Given the description of an element on the screen output the (x, y) to click on. 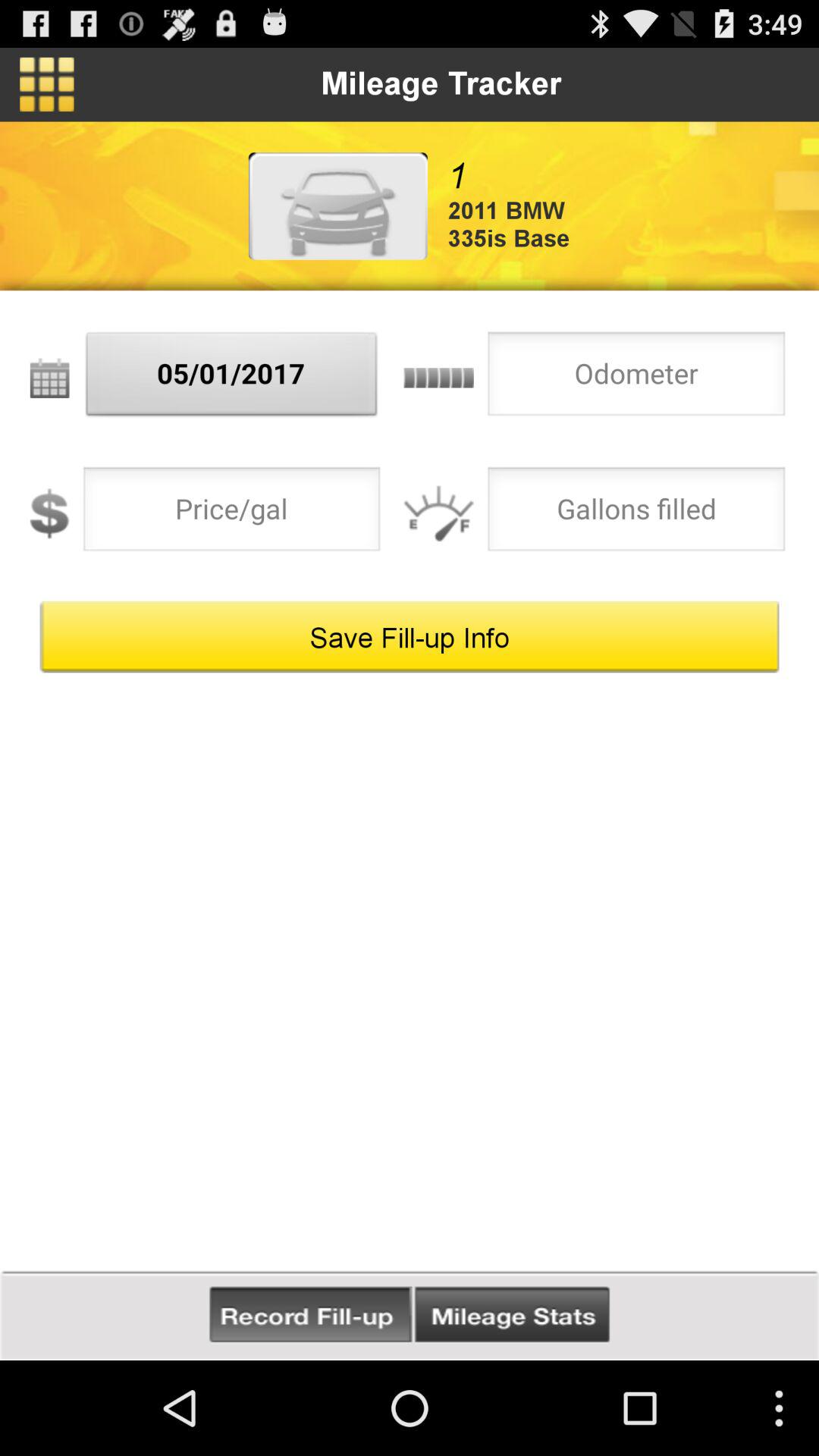
enter mileage (636, 377)
